Given the description of an element on the screen output the (x, y) to click on. 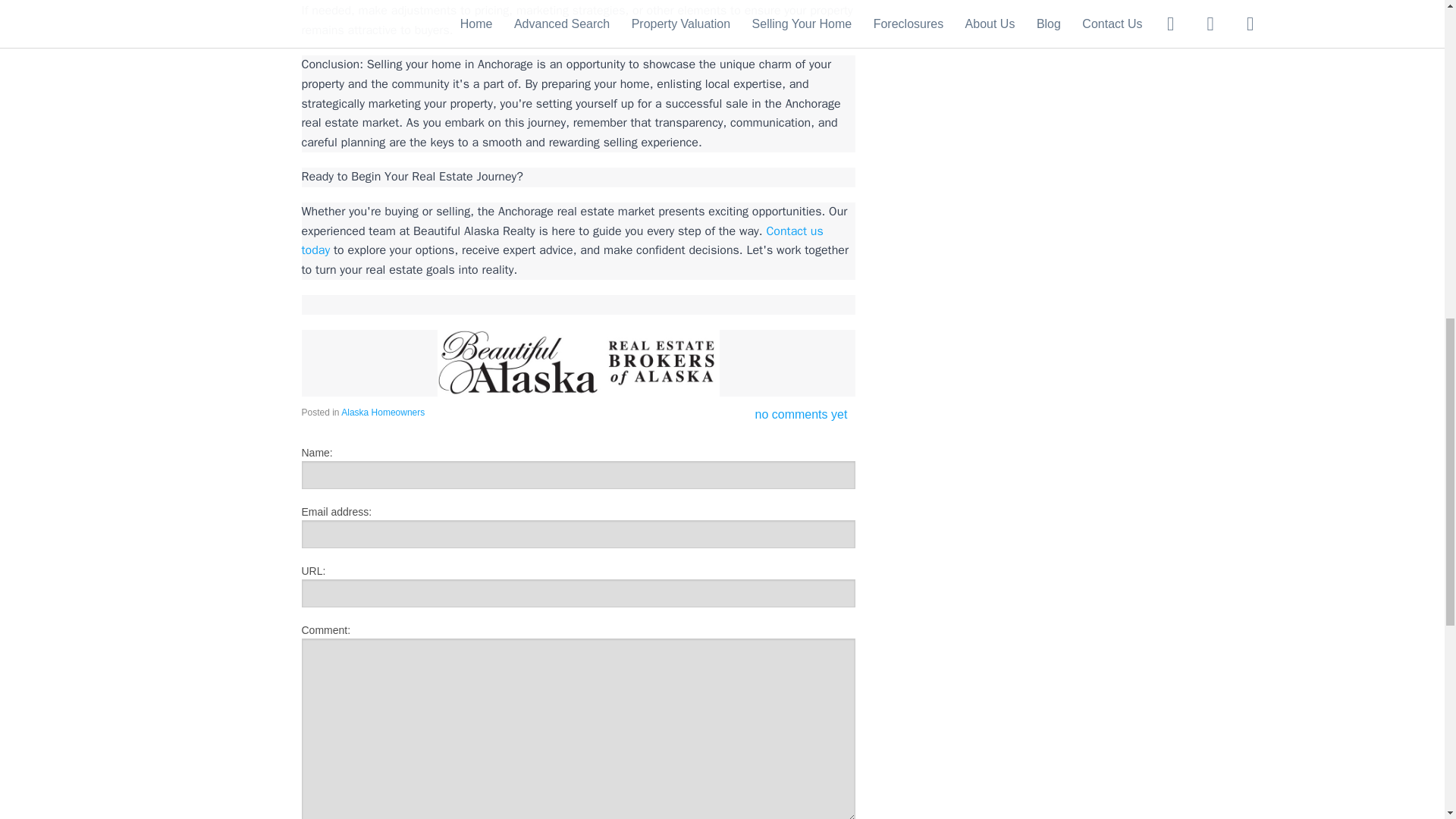
Contact us today (564, 240)
no comments yet (801, 413)
Alaska Homeowners (382, 412)
